Given the description of an element on the screen output the (x, y) to click on. 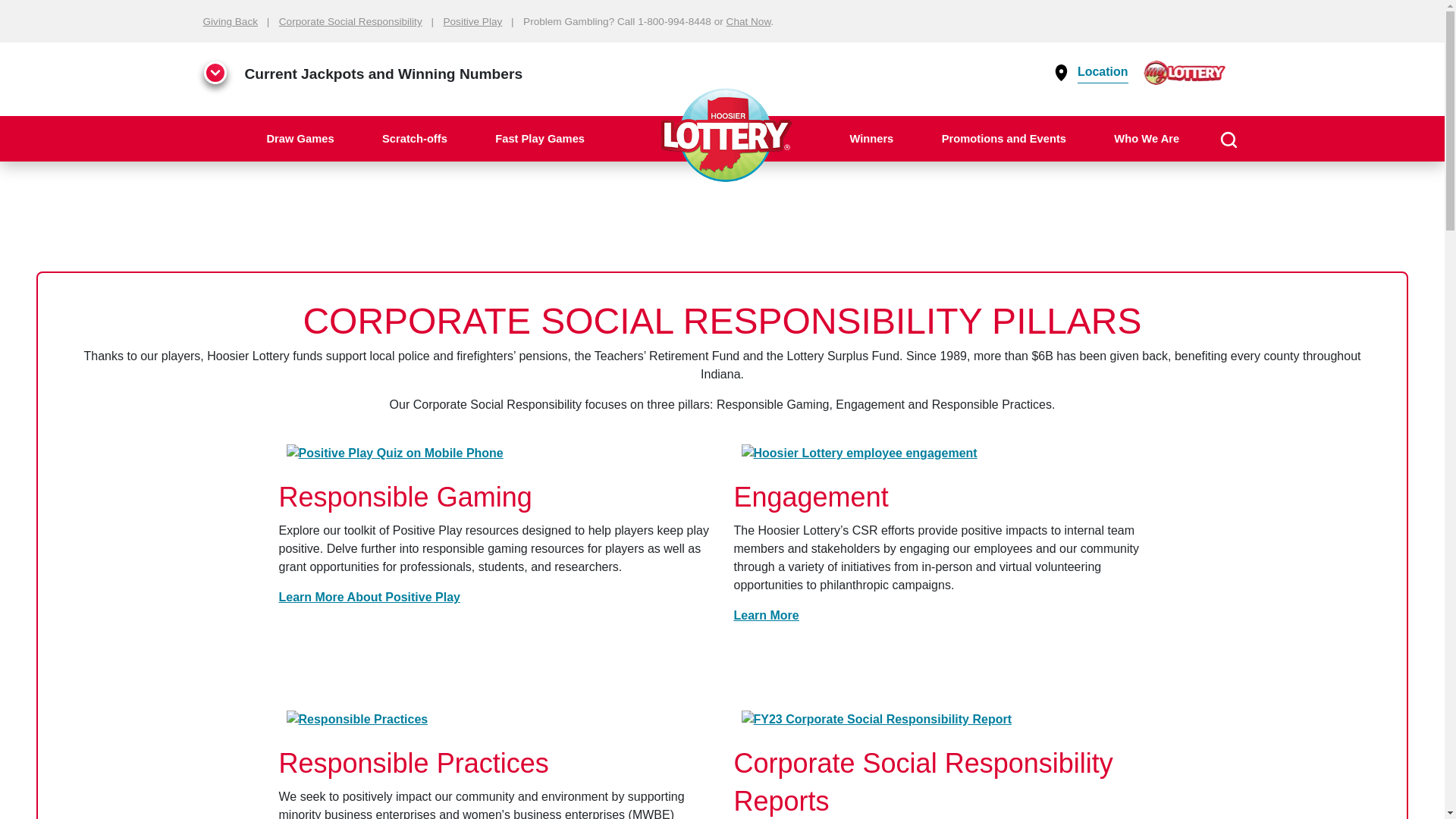
Draw Games (300, 138)
Who We Are (1147, 138)
Chat Now (748, 21)
Fast Play Games (540, 138)
Location (1099, 71)
Scratch-offs (414, 138)
Corporate Social Responsibility (350, 21)
myLottery (1183, 71)
Promotions and Events (1002, 138)
Positive Play (472, 21)
Go (1417, 188)
Giving Back (231, 21)
Winners (871, 138)
